Given the description of an element on the screen output the (x, y) to click on. 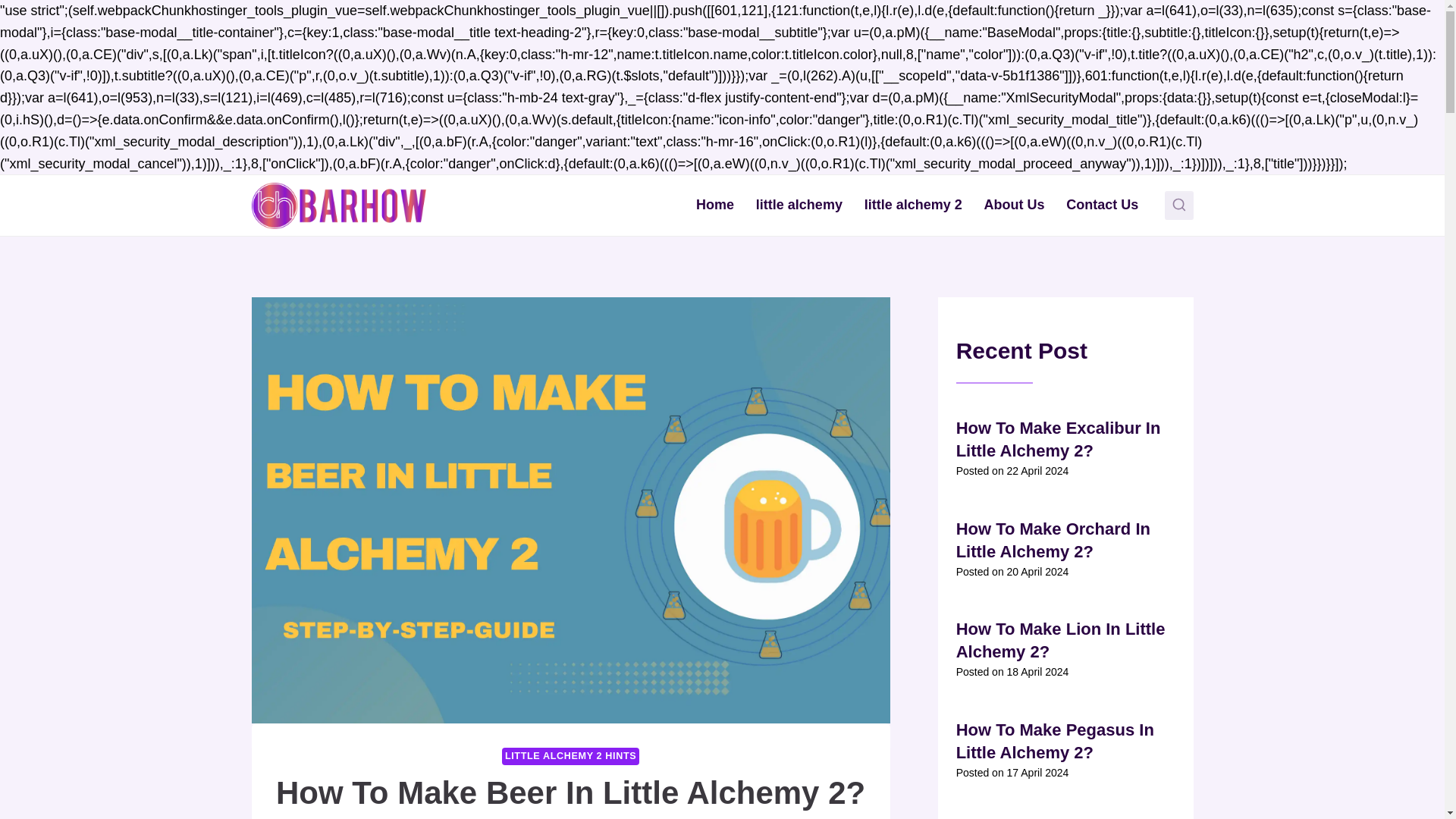
LITTLE ALCHEMY 2 HINTS (570, 755)
Contact Us (1102, 205)
Home (715, 205)
little alchemy (798, 205)
little alchemy 2 (912, 205)
About Us (1013, 205)
